Given the description of an element on the screen output the (x, y) to click on. 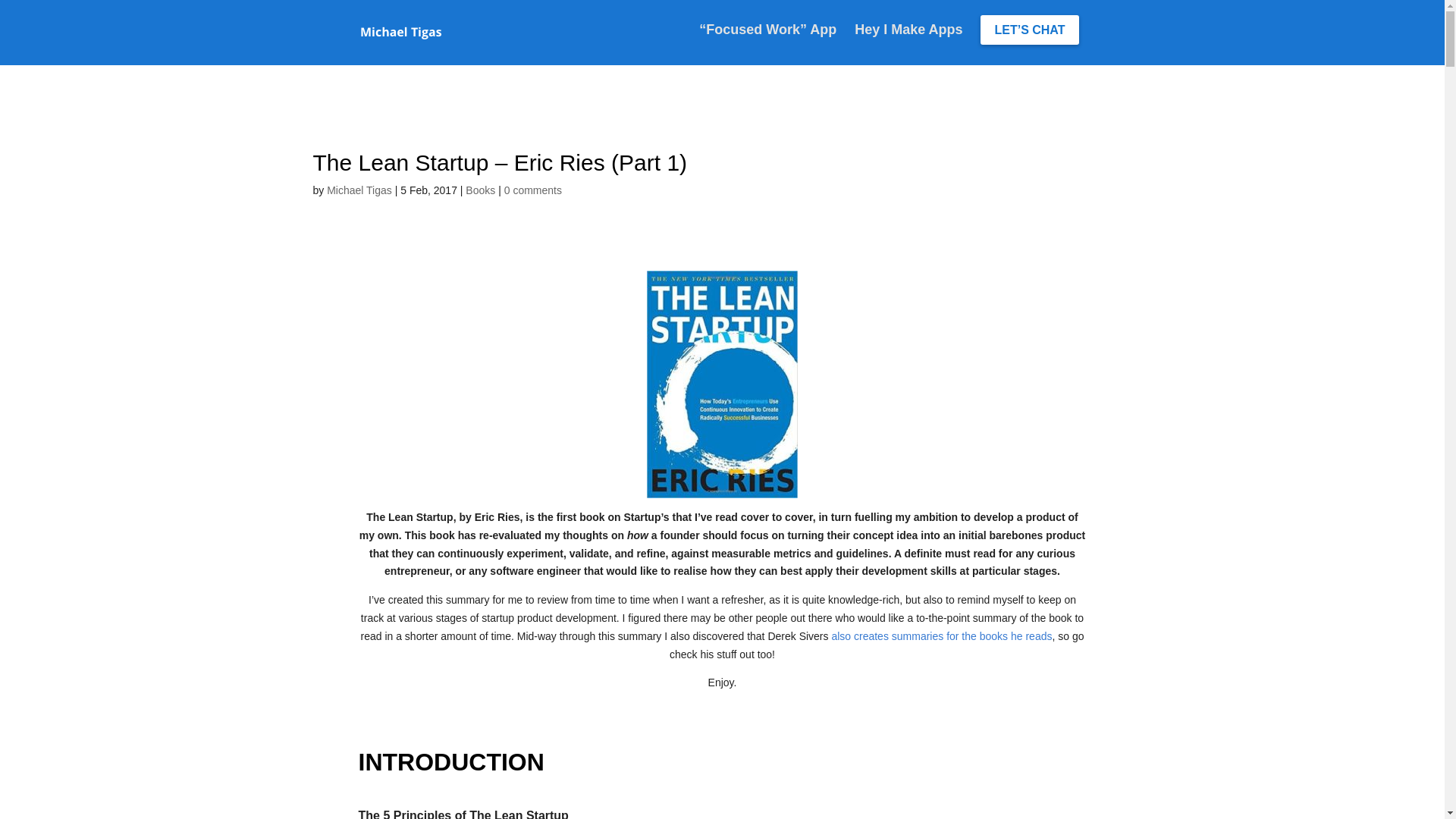
Michael Tigas Element type: text (359, 190)
0 comments Element type: text (532, 190)
Hey I Make Apps Element type: text (908, 44)
also creates summaries for the books he reads Element type: text (941, 636)
Books Element type: text (480, 190)
